Given the description of an element on the screen output the (x, y) to click on. 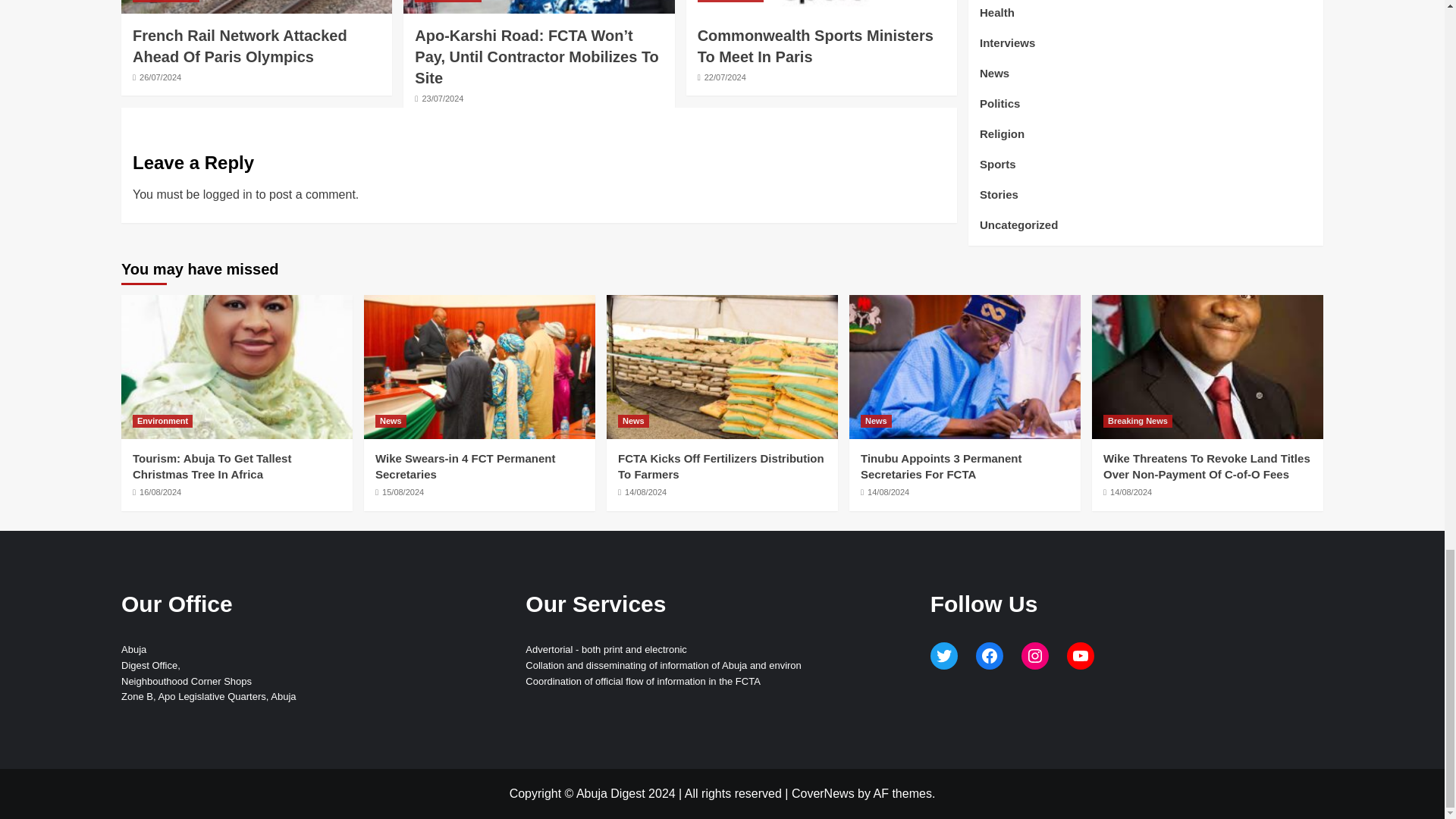
Uncategorized (730, 1)
Commonwealth Sports Ministers To Meet In Paris (815, 46)
French Rail Network Attacked Ahead Of Paris Olympics (239, 46)
logged in (227, 194)
Uncategorized (165, 1)
Uncategorized (447, 1)
